Given the description of an element on the screen output the (x, y) to click on. 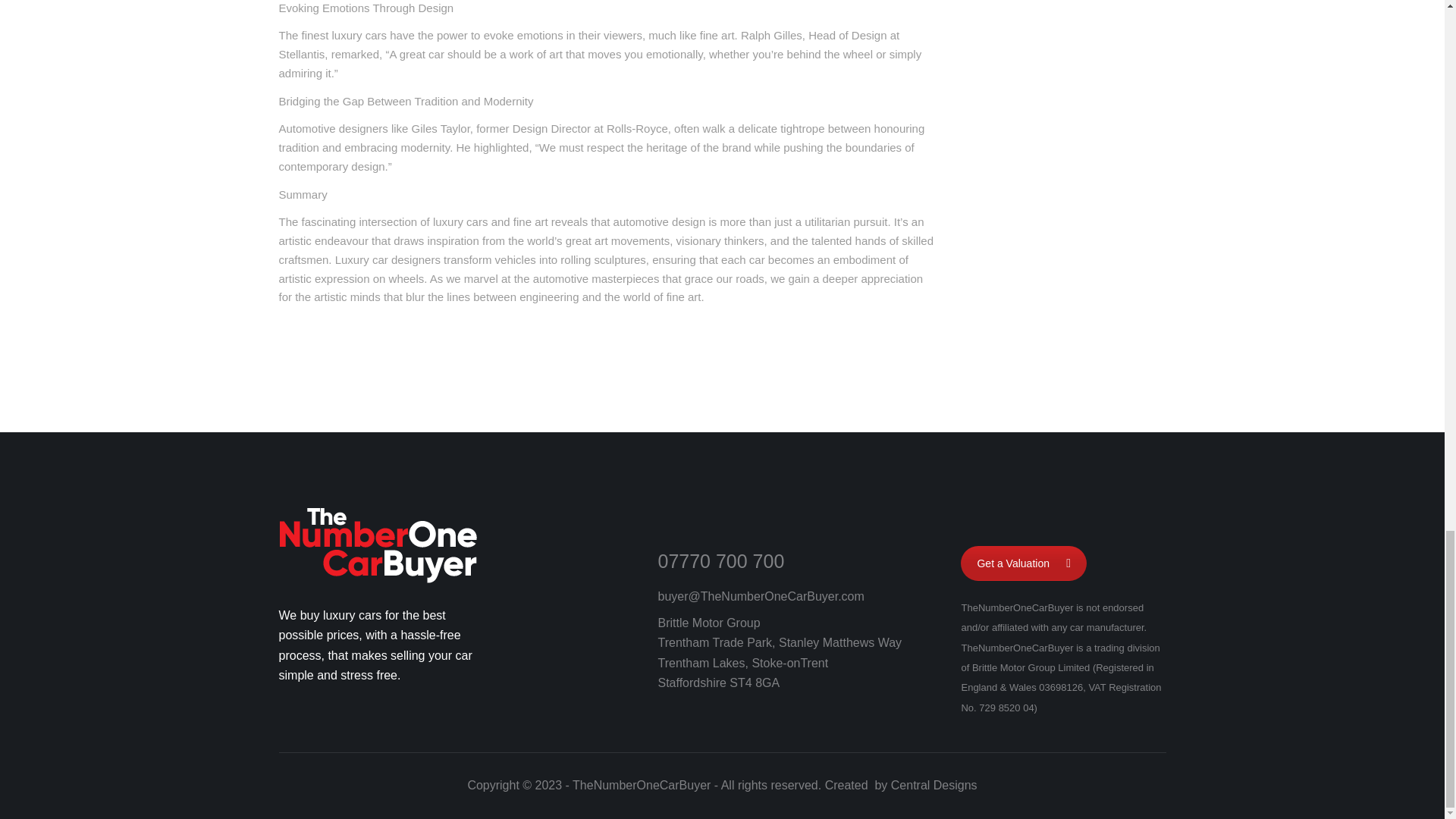
07770 700 700 (721, 560)
